Given the description of an element on the screen output the (x, y) to click on. 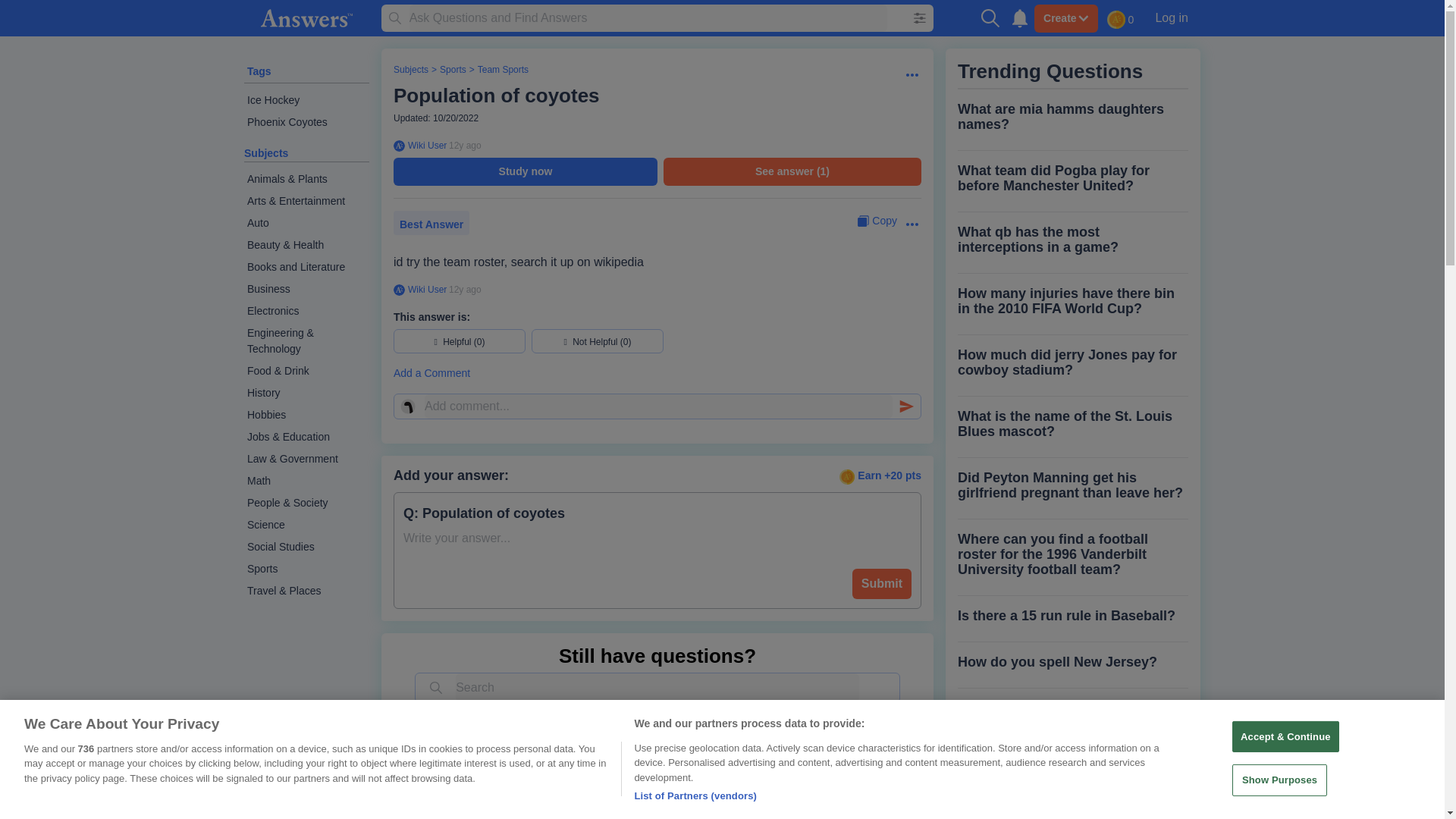
Science (306, 525)
Books and Literature (306, 267)
2012-03-06 02:44:05 (464, 289)
Sports (452, 69)
Electronics (306, 311)
2012-03-06 02:44:05 (464, 145)
Ice Hockey (306, 100)
Phoenix Coyotes (306, 122)
Business (306, 289)
Subjects (266, 152)
Auto (306, 223)
Tags (258, 70)
Hobbies (306, 414)
Team Sports (502, 69)
Social Studies (306, 546)
